Given the description of an element on the screen output the (x, y) to click on. 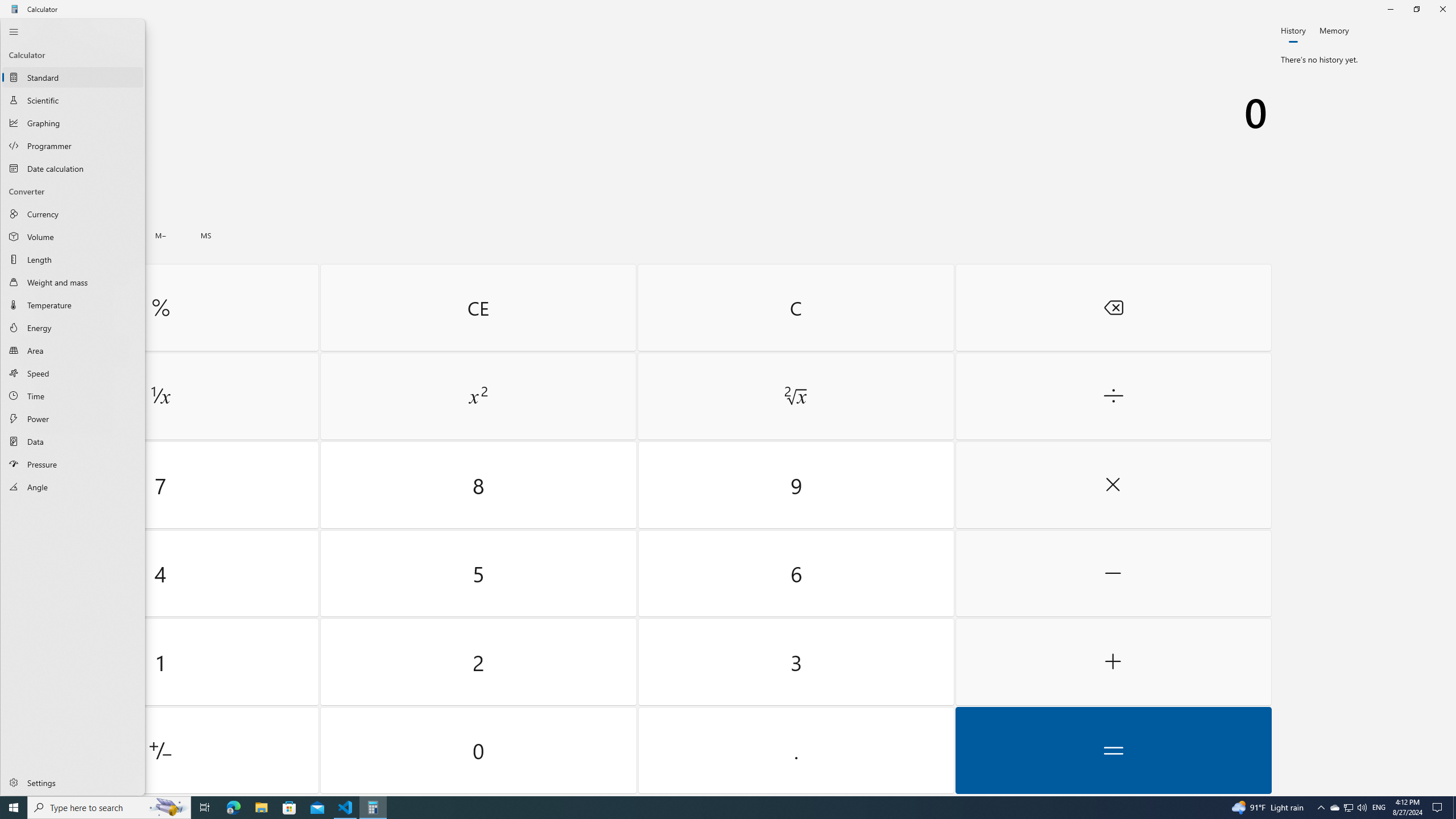
Weight and mass Converter (72, 281)
Divide by (1113, 396)
Length Converter (72, 258)
Clear all memory (24, 235)
Settings (72, 782)
Backspace (1113, 307)
Calculator - 1 running window (373, 807)
Memory recall (69, 235)
Positive negative (160, 749)
Programmer Calculator (72, 145)
Area Converter (72, 349)
